Given the description of an element on the screen output the (x, y) to click on. 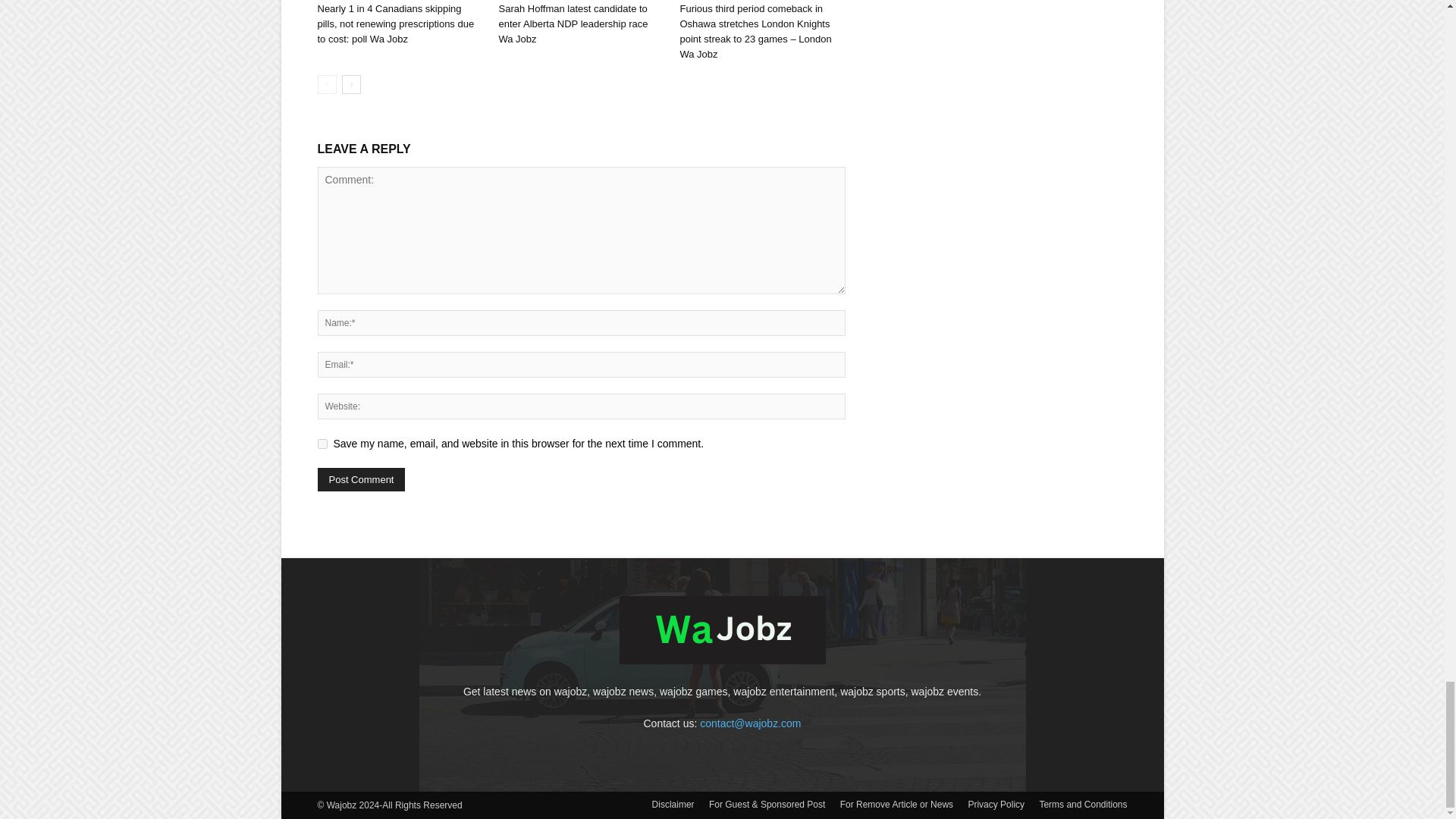
Post Comment (360, 479)
yes (321, 443)
